Given the description of an element on the screen output the (x, y) to click on. 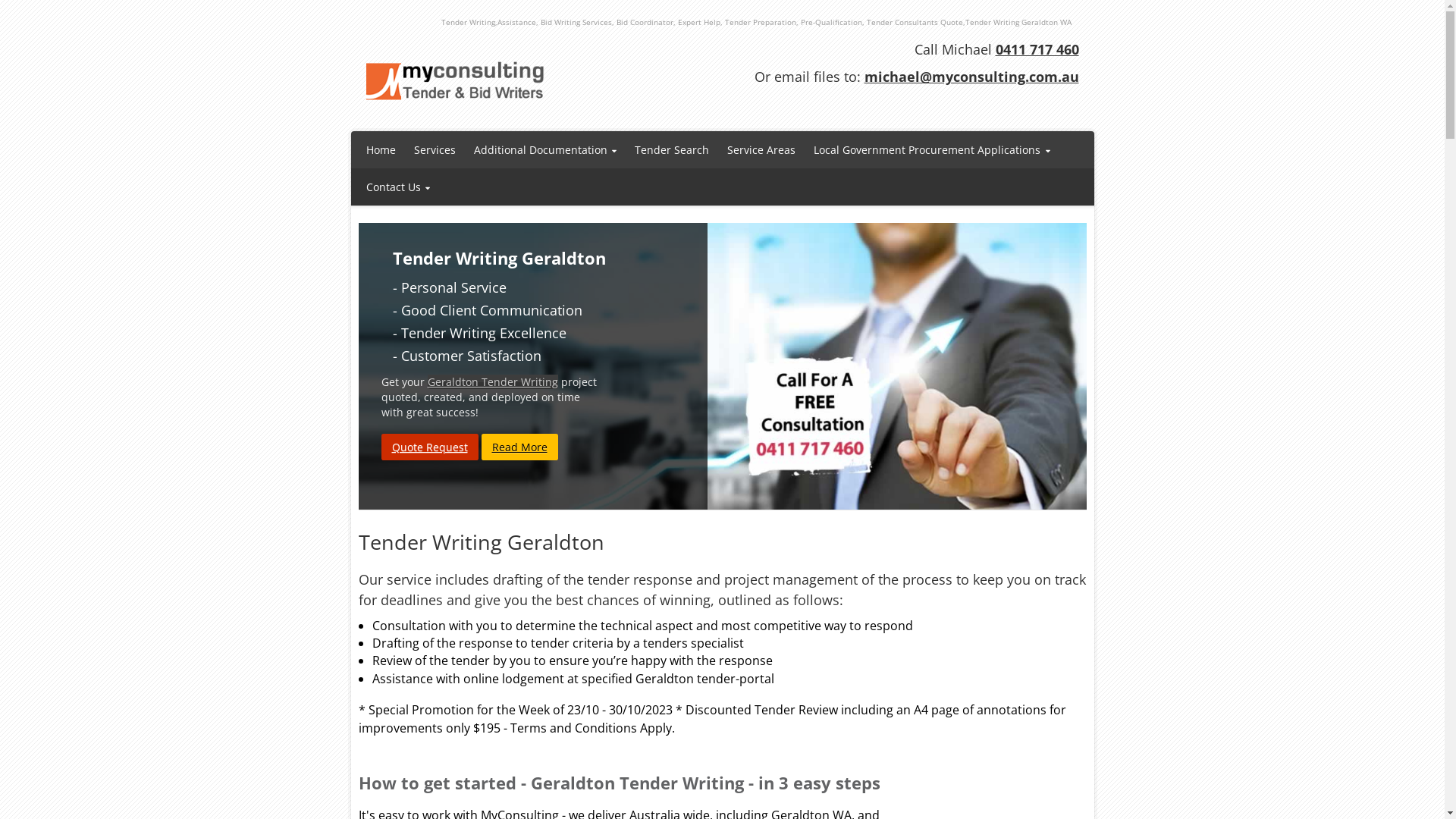
Local Government Procurement Applications Element type: text (931, 149)
Additional Documentation Element type: text (544, 149)
Contact Us Element type: text (397, 186)
Read More Element type: text (518, 446)
Service Areas Element type: text (761, 149)
michael@myconsulting.com.au Element type: text (971, 76)
Quote Request Element type: text (428, 446)
Geraldton Tender Writing Element type: text (492, 381)
Services Element type: text (434, 149)
0411 717 460 Element type: text (1036, 49)
Home Element type: text (380, 149)
Tender Search Element type: text (671, 149)
